Given the description of an element on the screen output the (x, y) to click on. 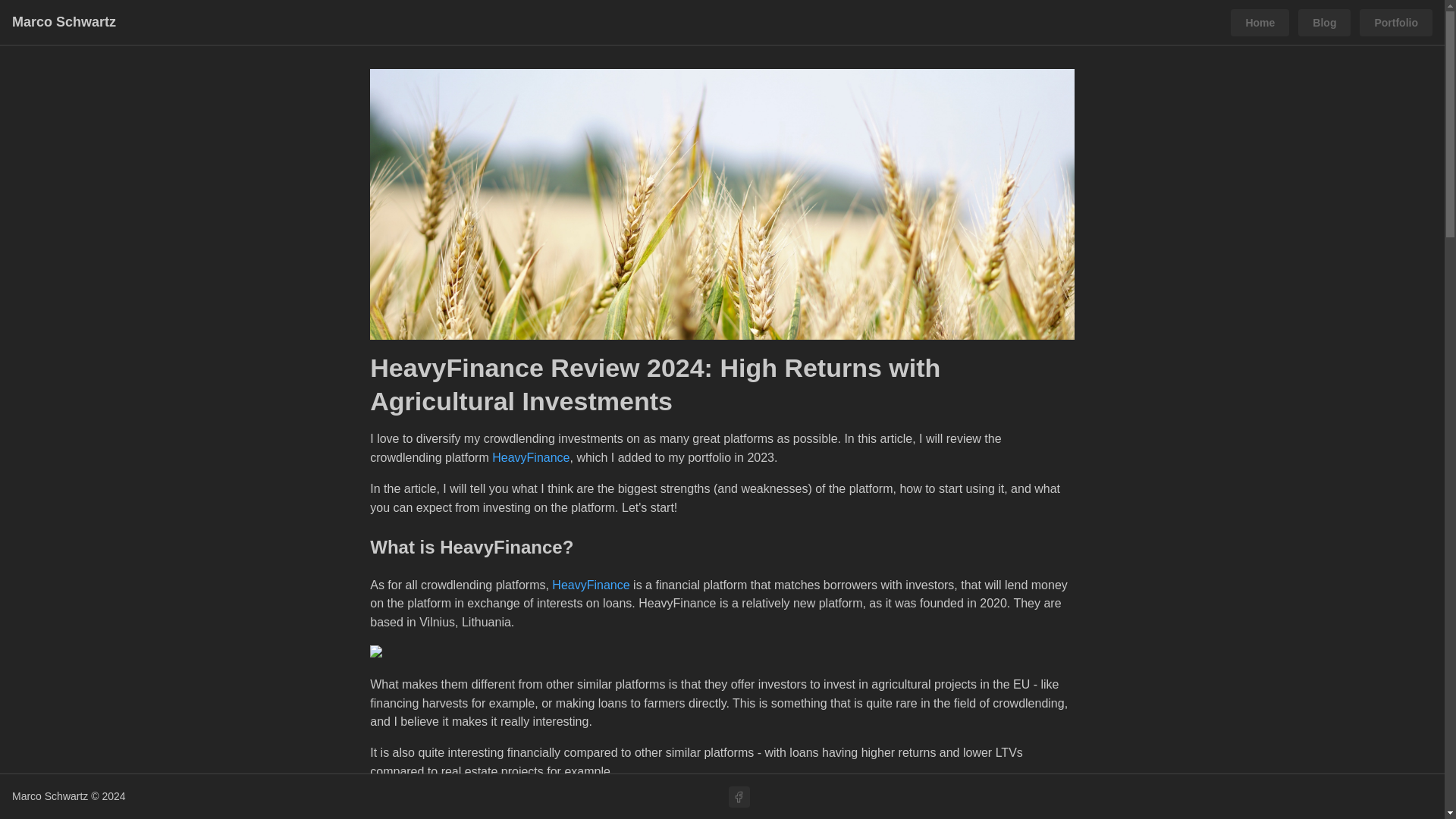
Portfolio (1395, 22)
Blog (1324, 22)
Portfolio (1395, 20)
Marco Schwartz (63, 22)
Blog (1324, 20)
HeavyFinance (530, 457)
Home (1259, 20)
Home (1259, 22)
HeavyFinance (589, 584)
